Given the description of an element on the screen output the (x, y) to click on. 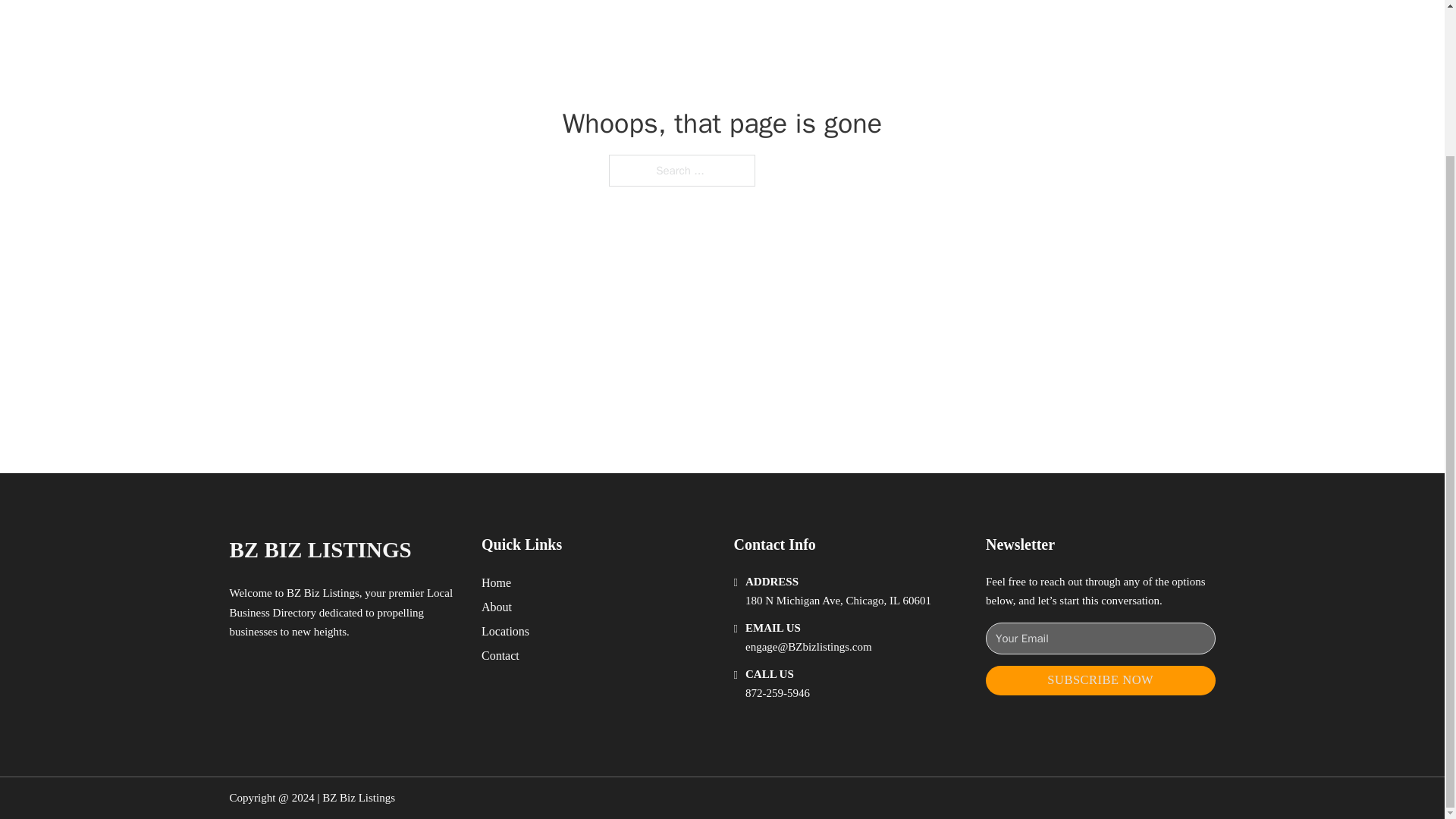
Home (496, 582)
BZ BIZ LISTINGS (319, 549)
About (496, 607)
Locations (505, 630)
872-259-5946 (777, 693)
SUBSCRIBE NOW (1100, 680)
Contact (500, 655)
